Given the description of an element on the screen output the (x, y) to click on. 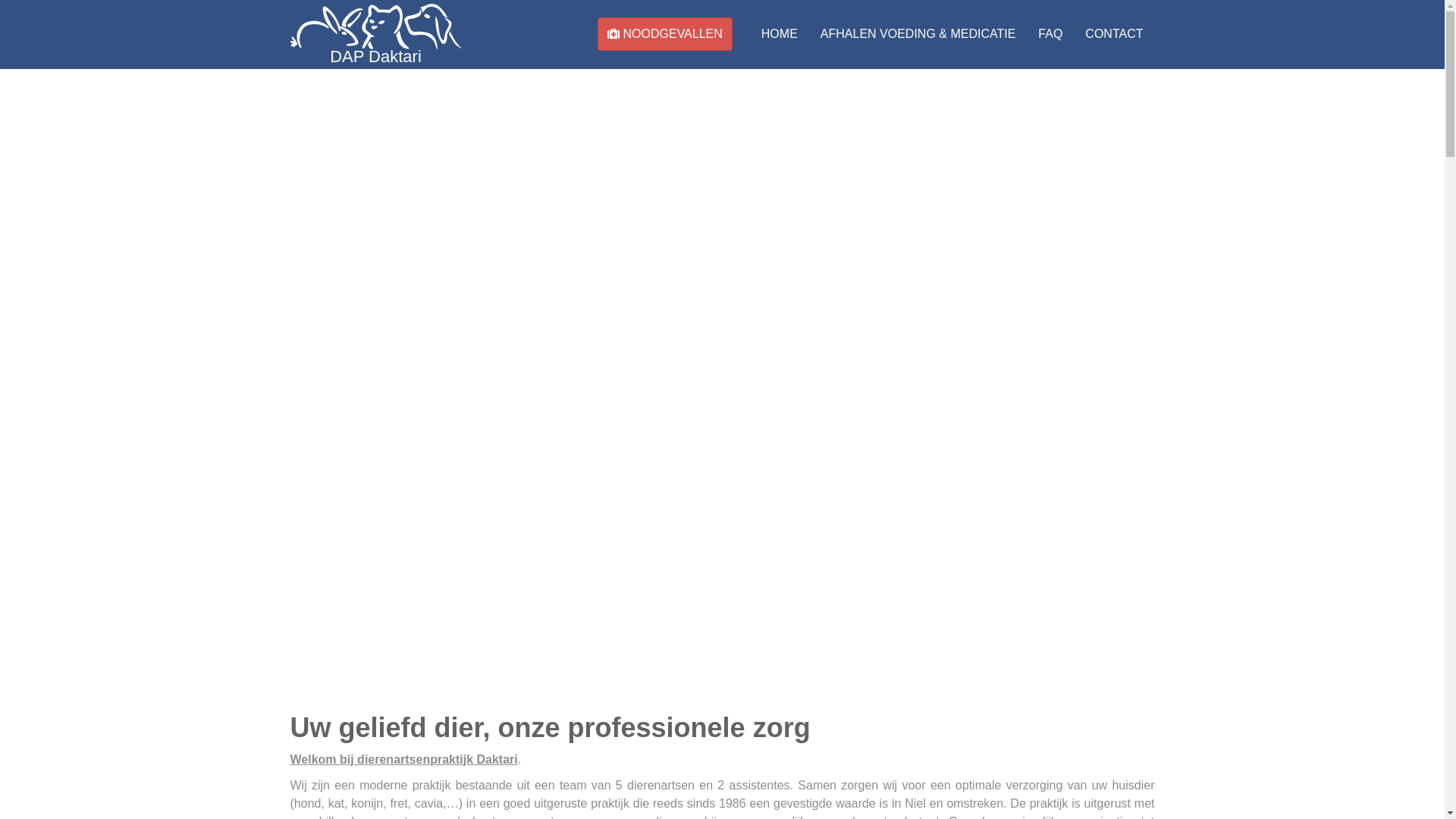
NOODGEVALLEN Element type: text (664, 33)
FAQ Element type: text (1049, 34)
AFHALEN VOEDING & MEDICATIE Element type: text (918, 34)
HOME Element type: text (779, 34)
DAP Daktari Element type: text (376, 34)
CONTACT Element type: text (1113, 34)
